Given the description of an element on the screen output the (x, y) to click on. 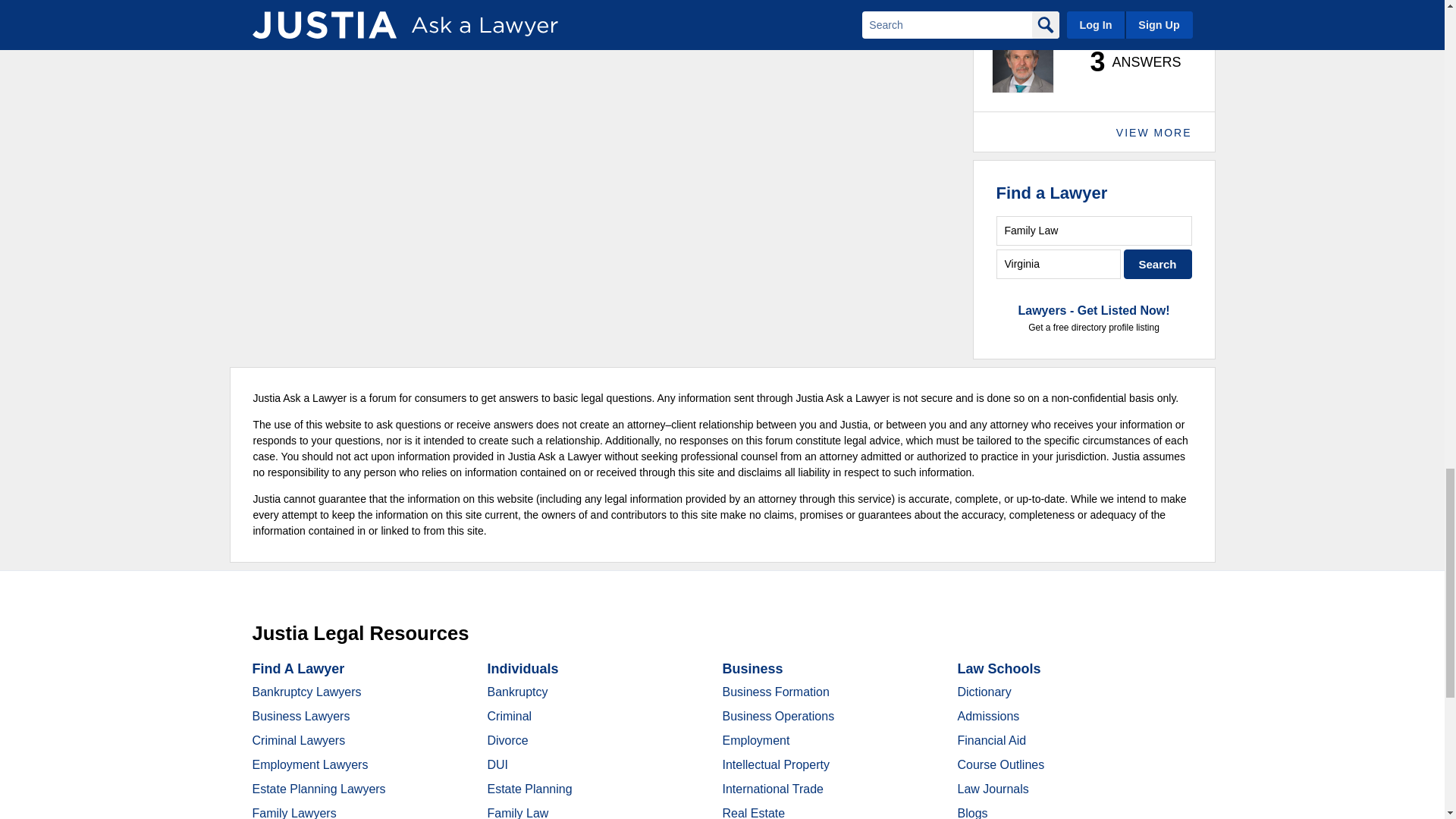
Search (1158, 264)
Ask a Lawyer - Leaderboard - Lawyer Name (1040, 14)
Search (1158, 264)
Legal Issue or Lawyer Name (1093, 230)
Virginia (1058, 264)
Family Law (1093, 230)
Ask a Lawyer - Leaderboard - Lawyer Photo (1021, 61)
City, State (1058, 264)
Ask a Lawyer - Leaderboard - Lawyer Stats (1127, 62)
